Given the description of an element on the screen output the (x, y) to click on. 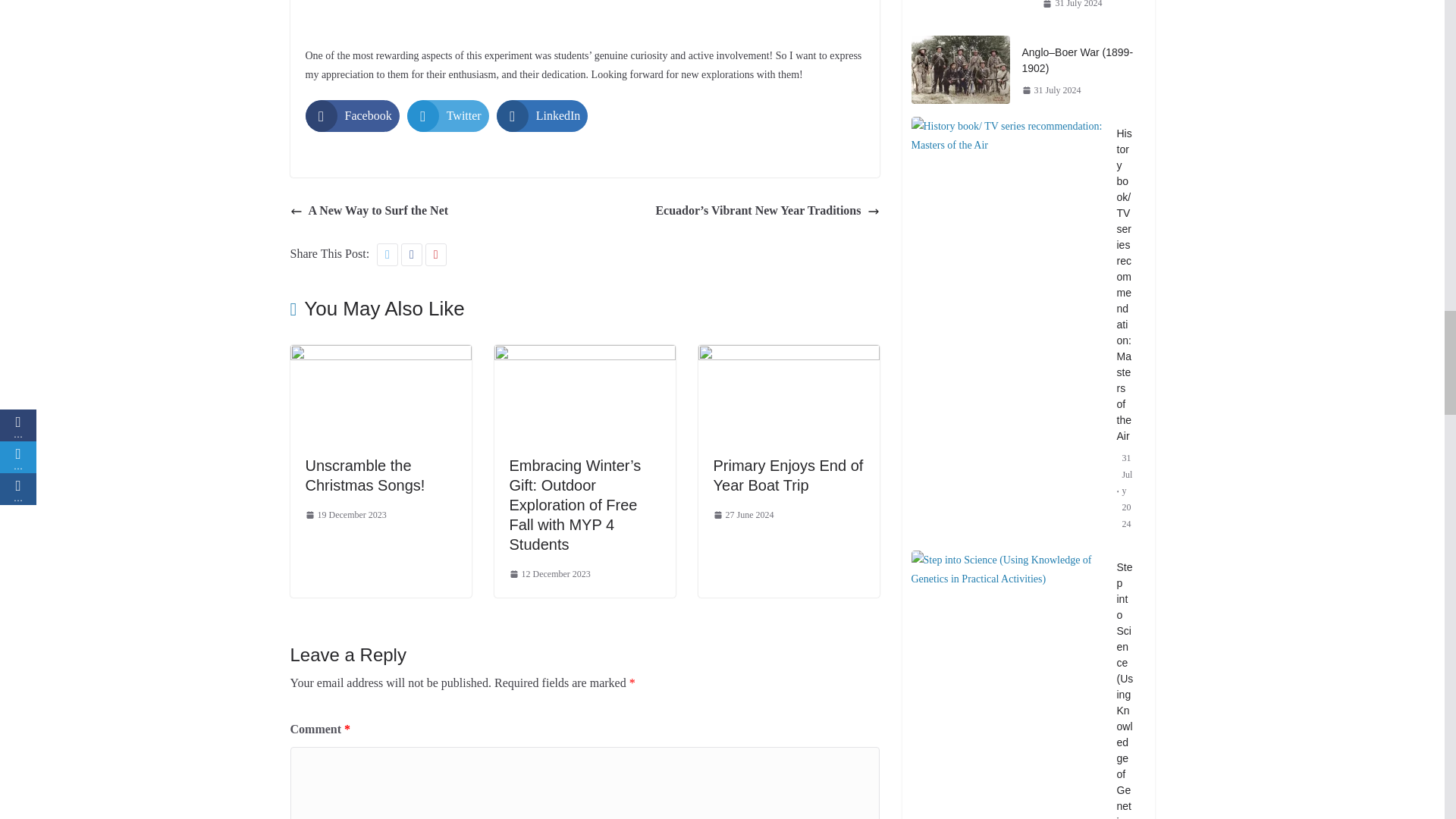
LinkedIn (542, 115)
Facebook (351, 115)
12 December 2023 (550, 574)
27 June 2024 (743, 515)
Twitter (448, 115)
A New Way to Surf the Net (368, 210)
Primary Enjoys End of Year Boat Trip (788, 475)
Unscramble the Christmas Songs! (364, 475)
Unscramble the Christmas Songs! (364, 475)
Unscramble the Christmas Songs! (379, 354)
